Given the description of an element on the screen output the (x, y) to click on. 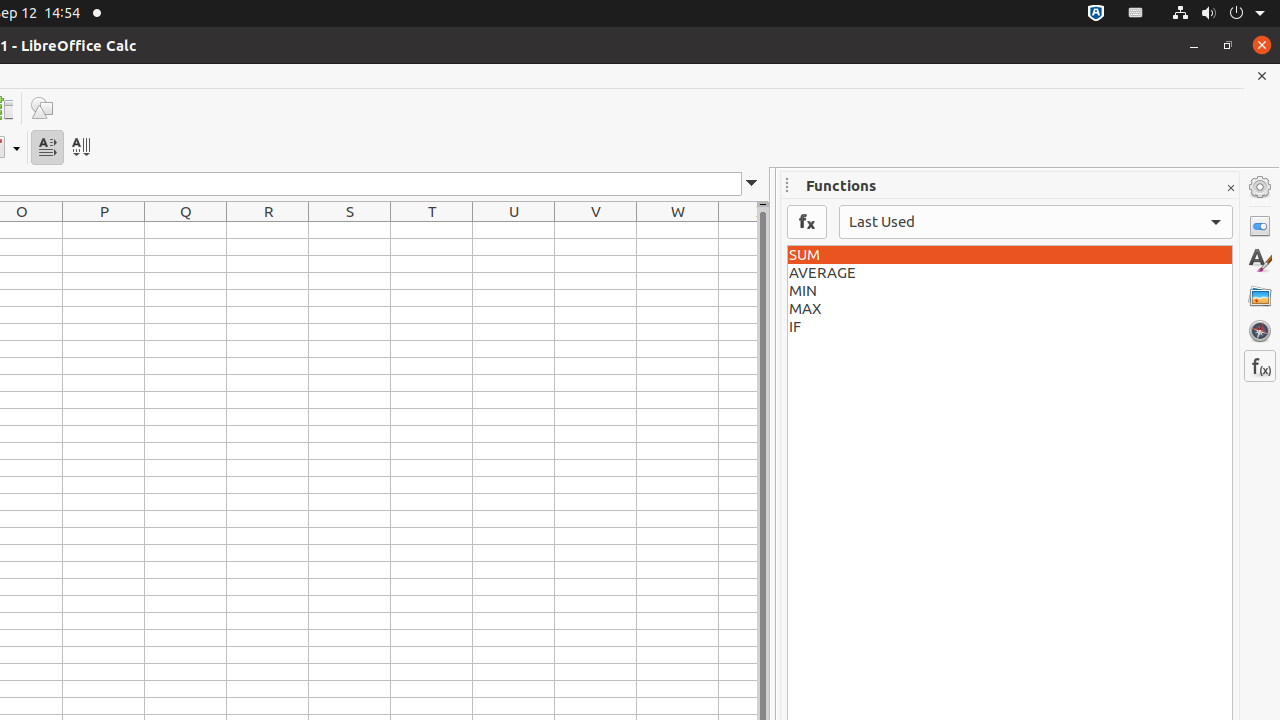
Properties Element type: radio-button (1260, 226)
IF Element type: list-item (1010, 327)
MIN Element type: list-item (1010, 291)
Styles Element type: radio-button (1260, 261)
SUM Element type: list-item (1010, 255)
